Given the description of an element on the screen output the (x, y) to click on. 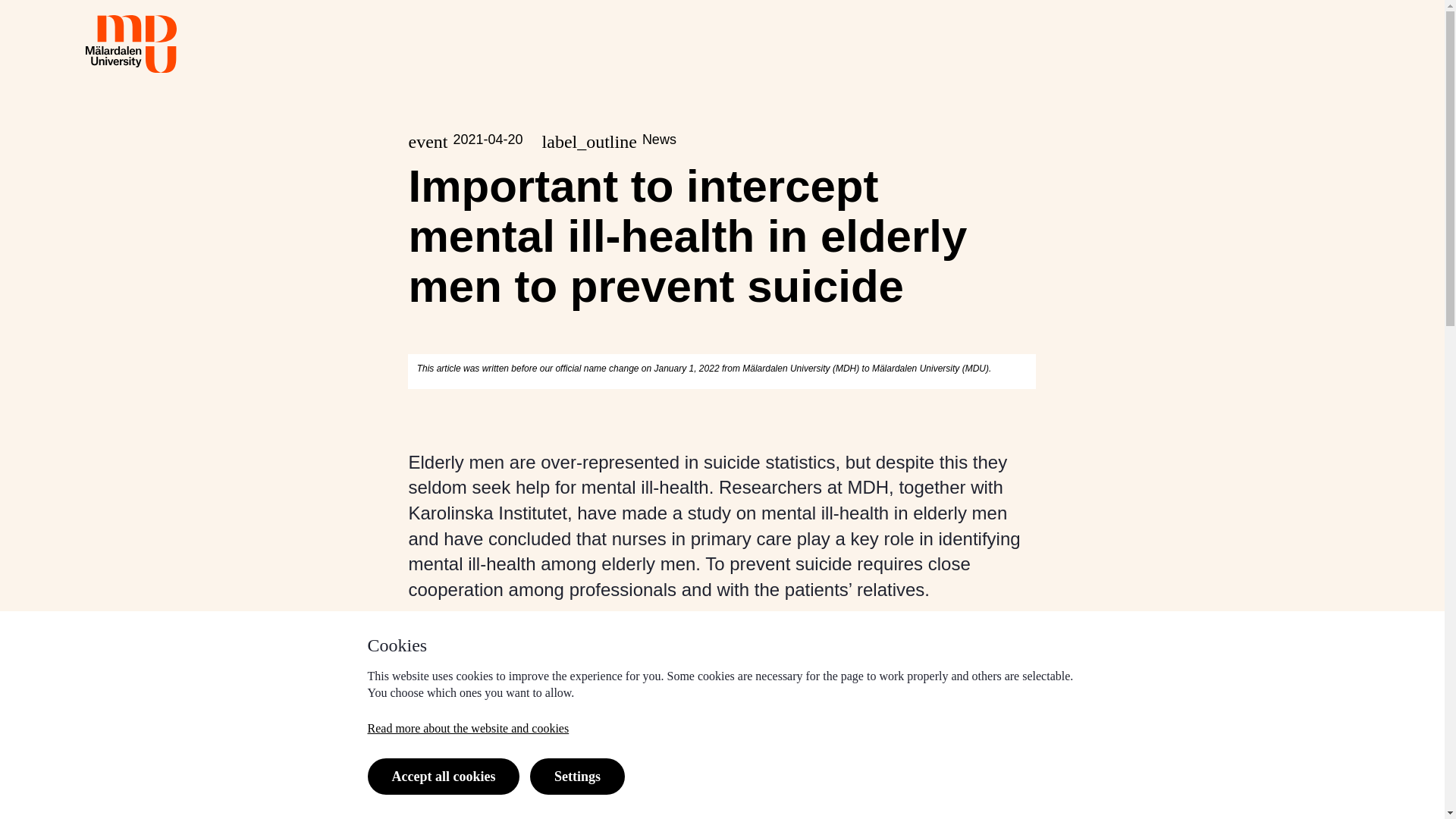
Read more about the website and cookies (467, 727)
Settings (576, 776)
Accept all cookies (442, 776)
